Given the description of an element on the screen output the (x, y) to click on. 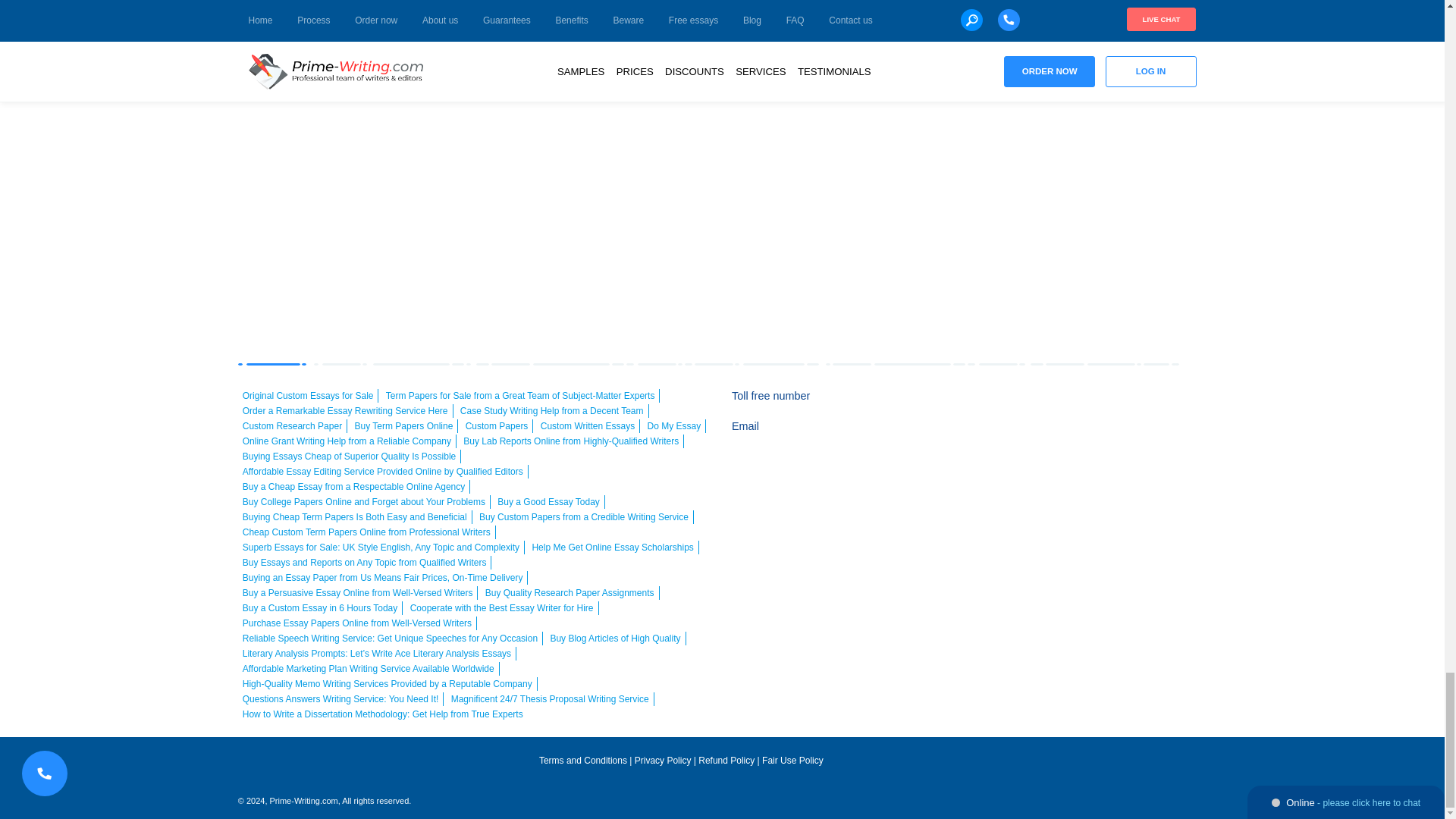
essays.prime-writing.com (680, 795)
Credit cards by JCB (1112, 435)
Credit cards by American Express (1091, 405)
Credit and debit cards by MasterCard (1048, 405)
Credit cards by Diners Club (1069, 435)
Apple pay (1133, 405)
essays.prime-writing.com (342, 766)
Credit and debit cards by Visa (1005, 405)
essays.prime-writing.com (1050, 765)
Credit cards by Discover (1176, 405)
